Given the description of an element on the screen output the (x, y) to click on. 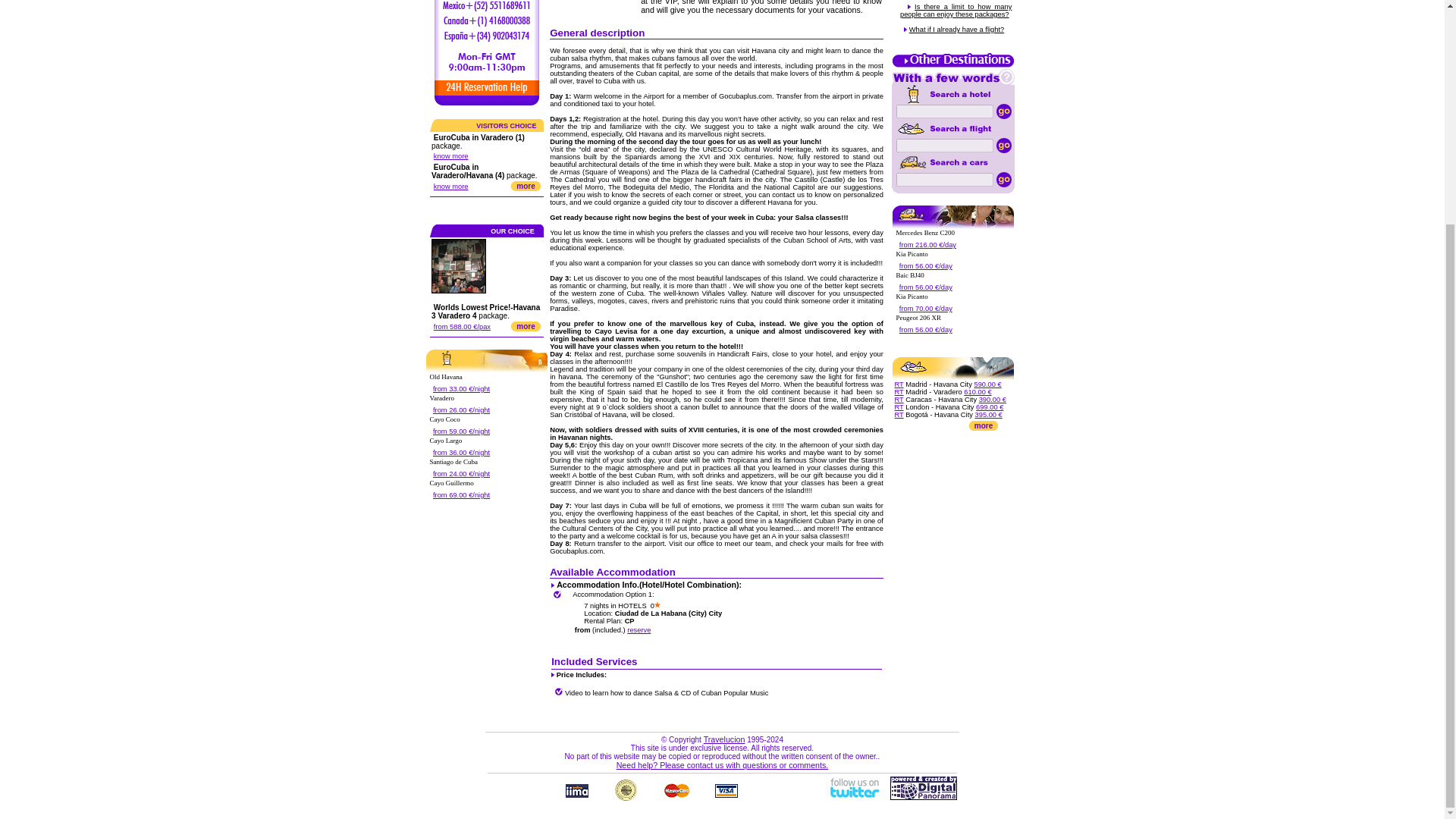
follow us on twitter (853, 796)
Other Destinations (952, 65)
know more (450, 186)
know more (450, 155)
